Given the description of an element on the screen output the (x, y) to click on. 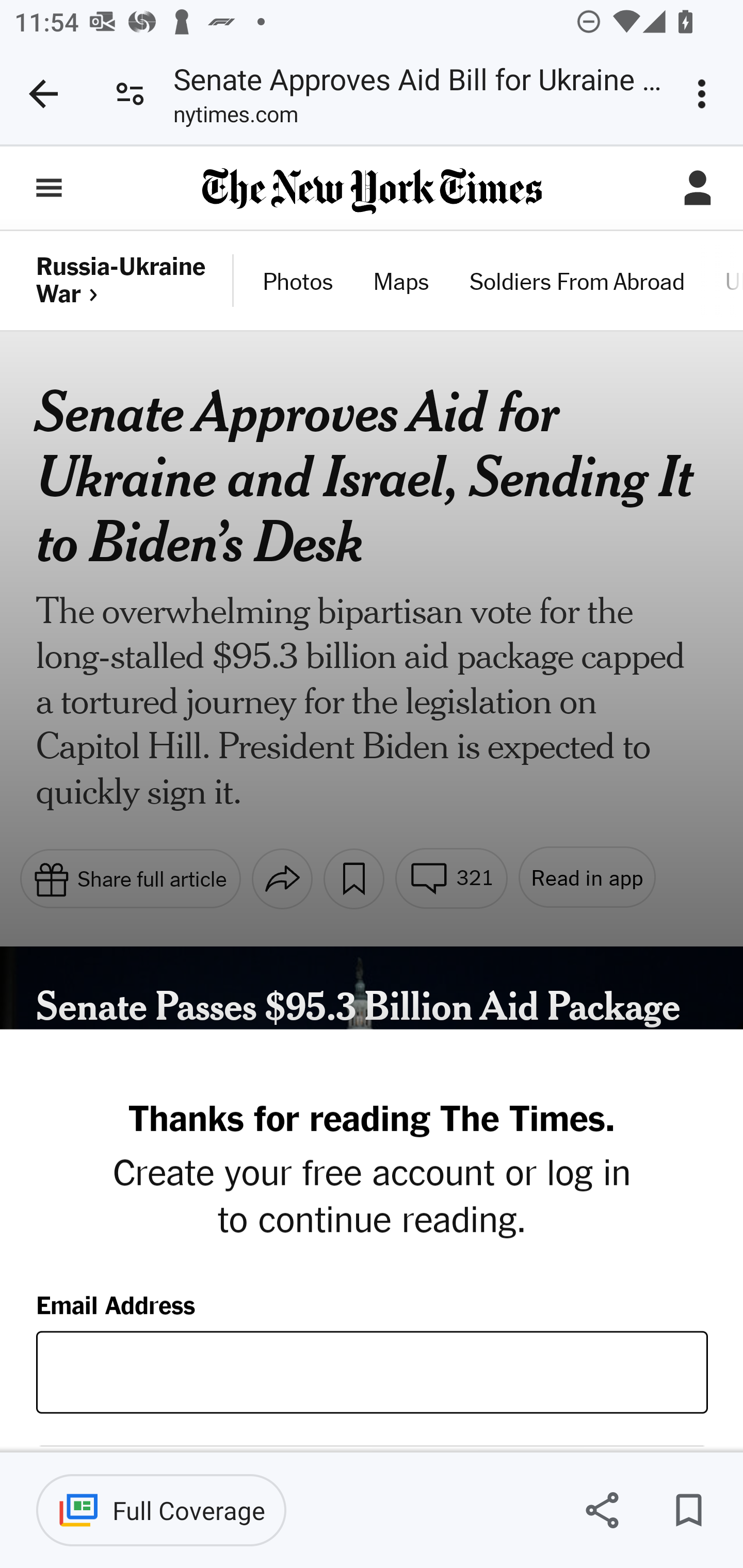
Close tab (43, 93)
Customize and control Google Chrome (705, 93)
Connection is secure (129, 93)
nytimes.com (235, 117)
Full Coverage (161, 1509)
Share (601, 1510)
Save for later (688, 1510)
